Given the description of an element on the screen output the (x, y) to click on. 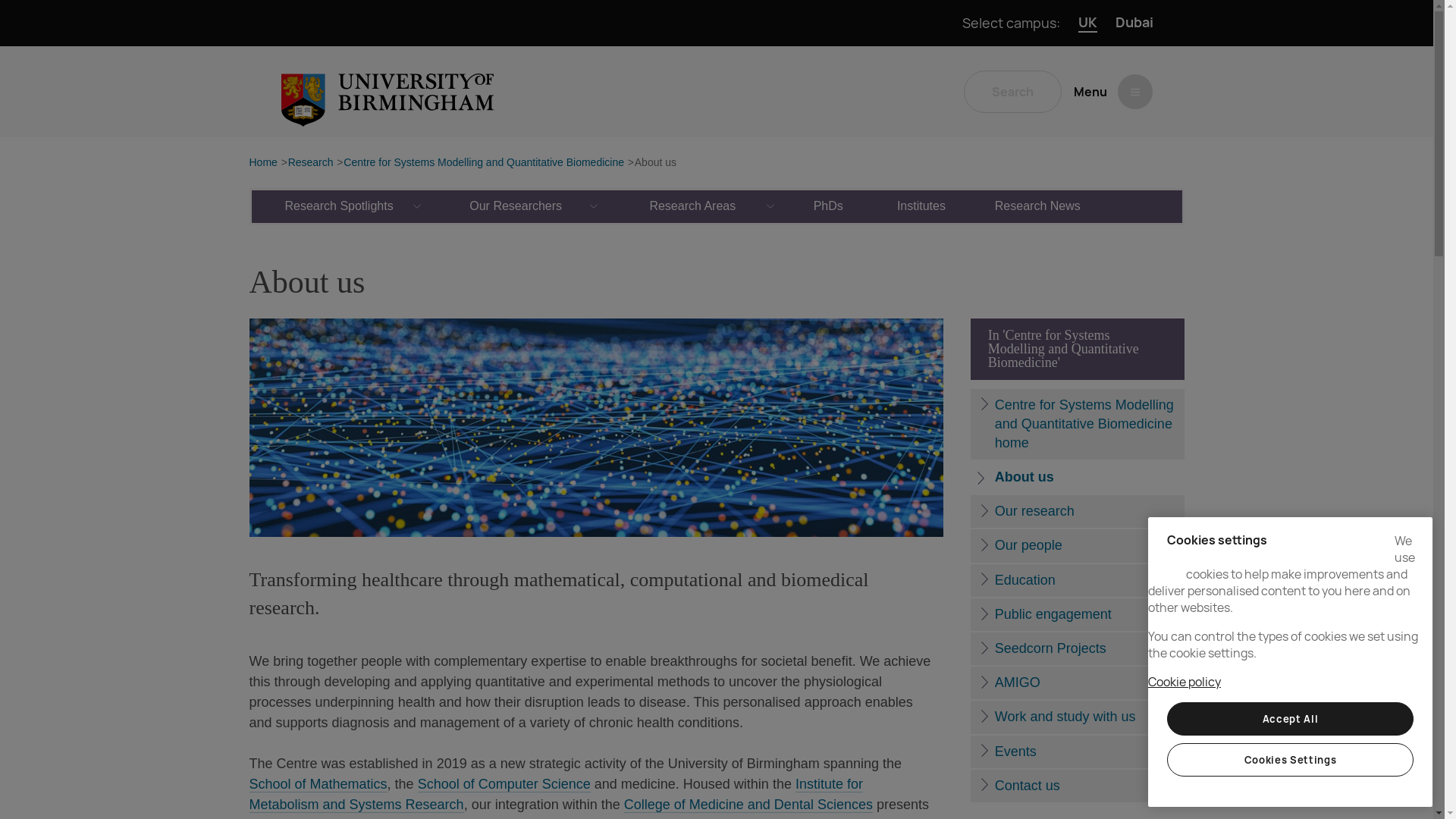
Home (262, 163)
UK (1087, 23)
Dubai (1134, 23)
Search (1012, 91)
Research Spotlights (339, 205)
About us (655, 163)
Research (310, 163)
Research Areas (693, 205)
Our Researchers (516, 205)
Centre for Systems Modelling and Quantitative Biomedicine (483, 163)
